Given the description of an element on the screen output the (x, y) to click on. 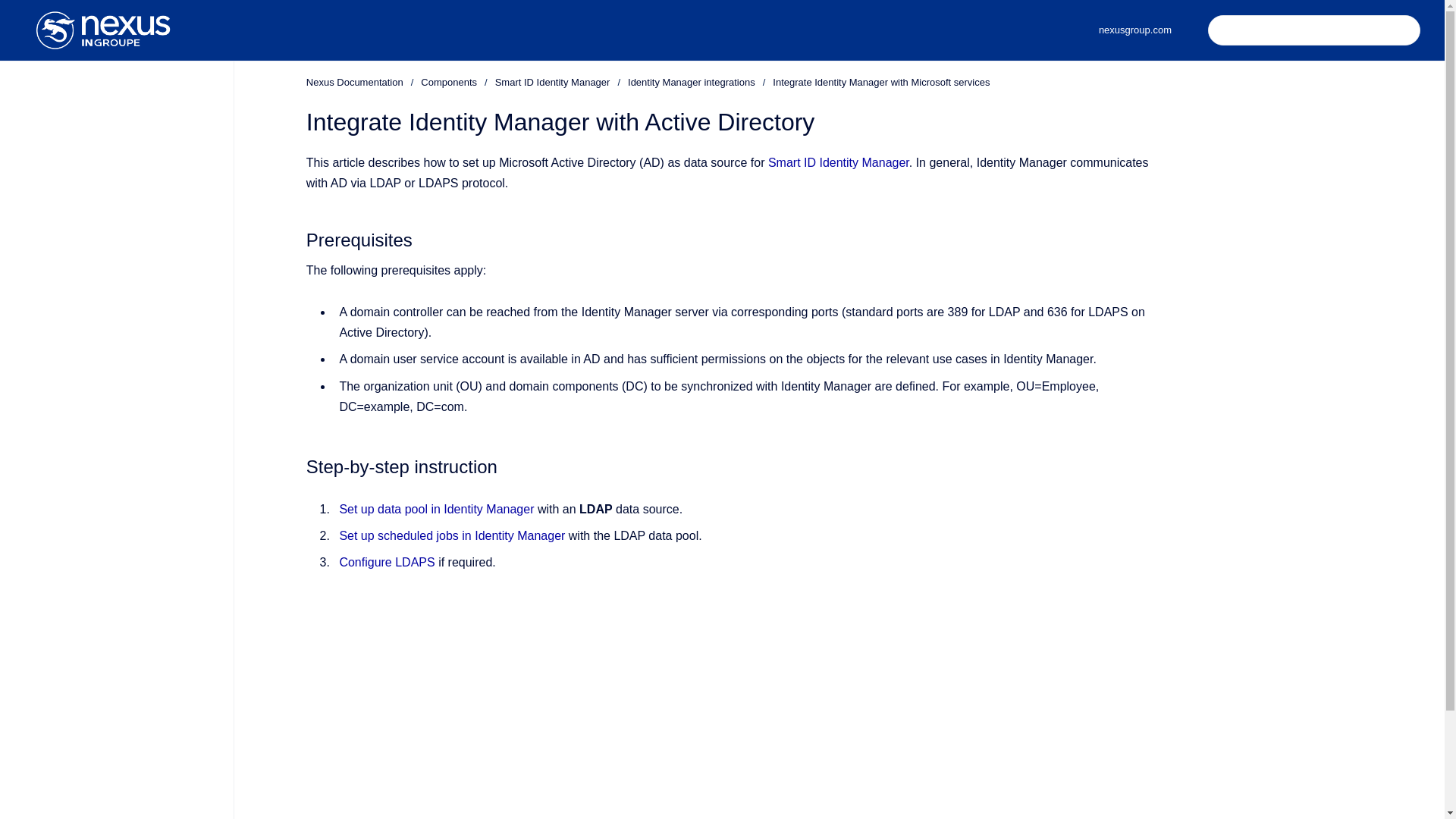
Go to homepage (103, 30)
Configure LDAPS (386, 562)
Set up data pool in Identity Manager (436, 508)
Components (448, 82)
Identity Manager integrations (691, 82)
Set up scheduled jobs in Identity Manager (451, 535)
Smart ID Identity Manager (552, 82)
Integrate Identity Manager with Microsoft services (881, 82)
Nexus Documentation (354, 82)
nexusgroup.com (1134, 29)
Smart ID Identity Manager (838, 162)
